Given the description of an element on the screen output the (x, y) to click on. 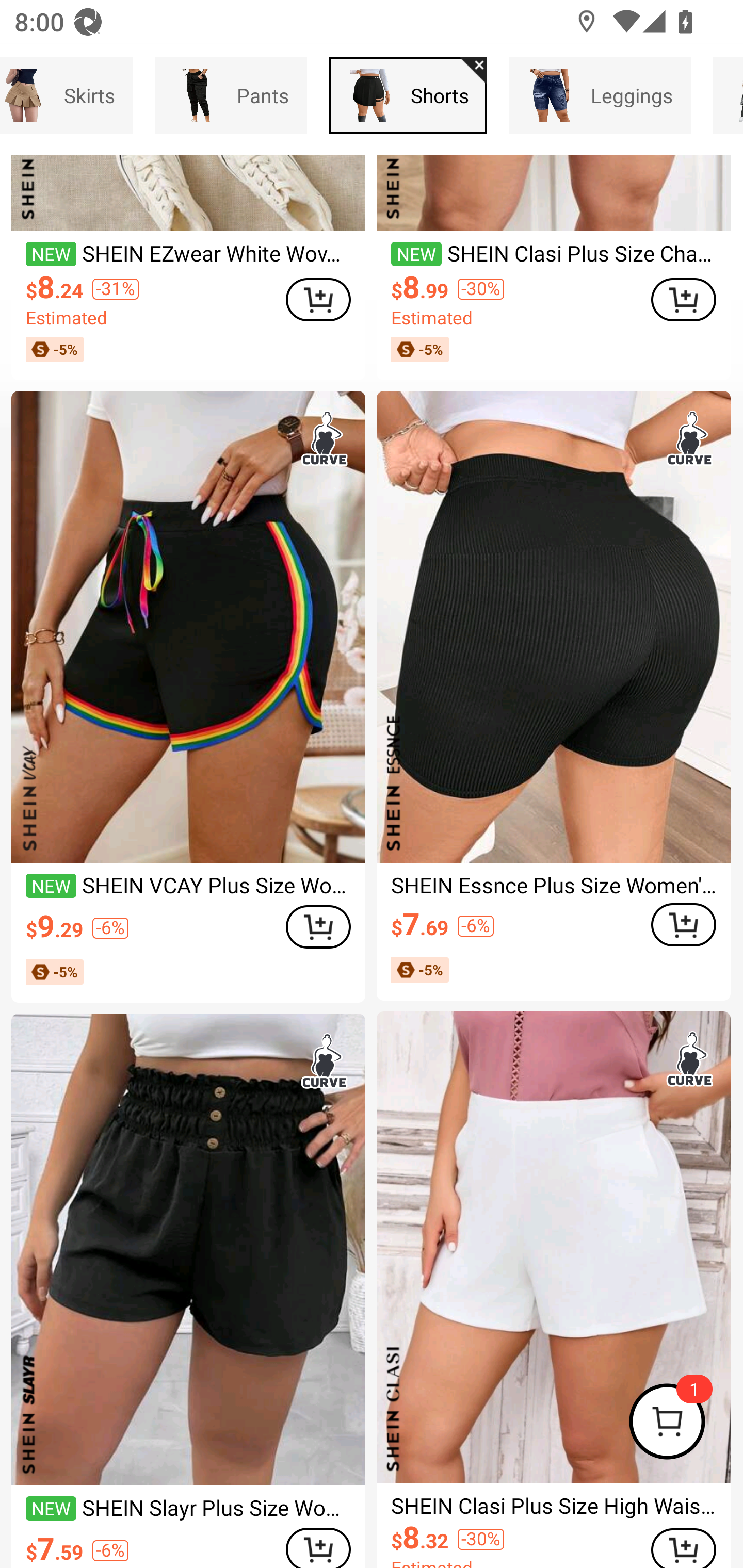
Skirts (66, 95)
Pants (230, 95)
Shorts (407, 95)
Leggings (599, 95)
ADD TO CART (318, 299)
ADD TO CART (683, 299)
ADD TO CART (683, 925)
ADD TO CART (318, 926)
ADD TO CART (318, 1547)
ADD TO CART (683, 1548)
